Given the description of an element on the screen output the (x, y) to click on. 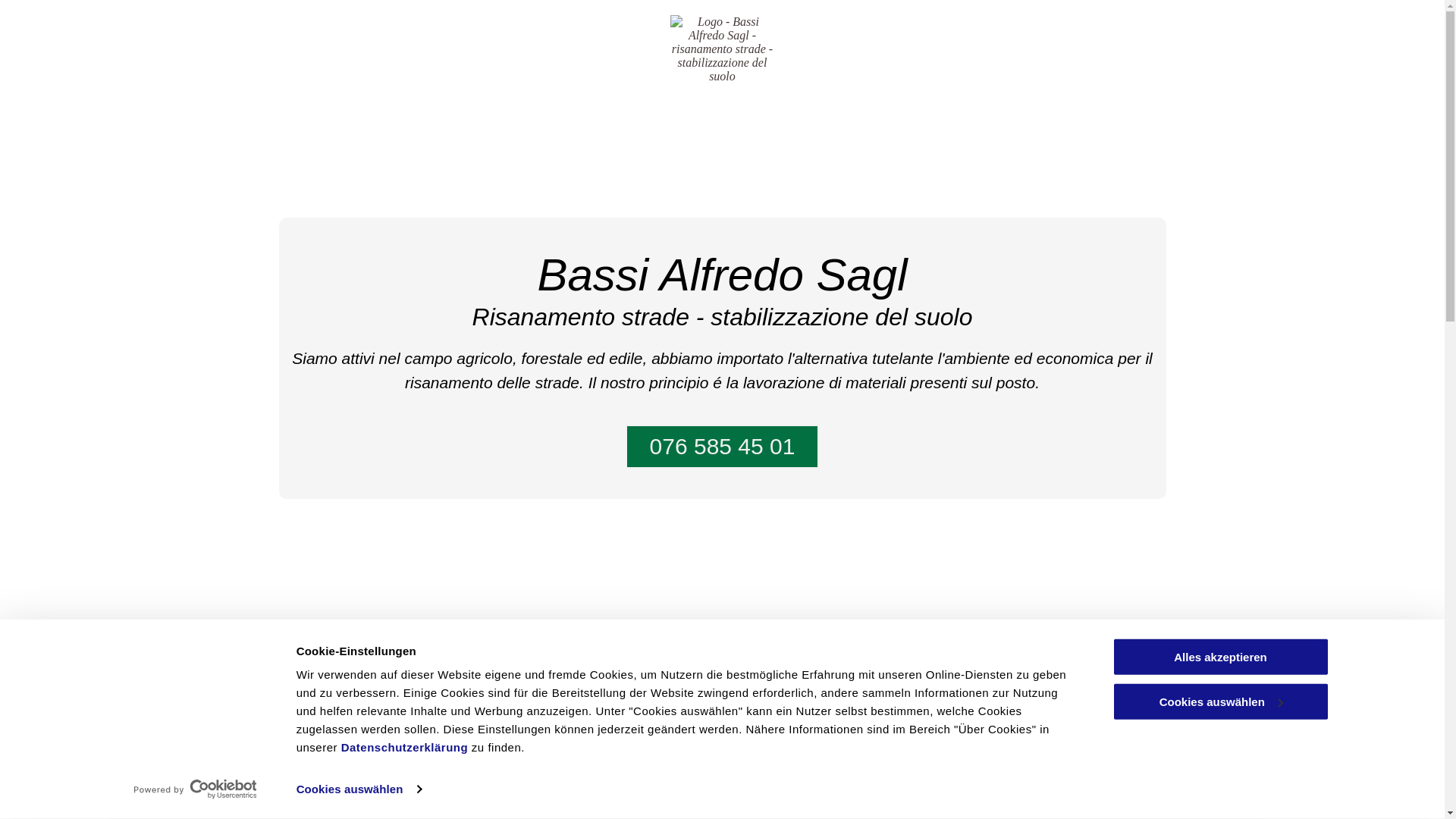
076 585 45 01 Element type: text (722, 446)
Alles akzeptieren Element type: text (1219, 656)
